Given the description of an element on the screen output the (x, y) to click on. 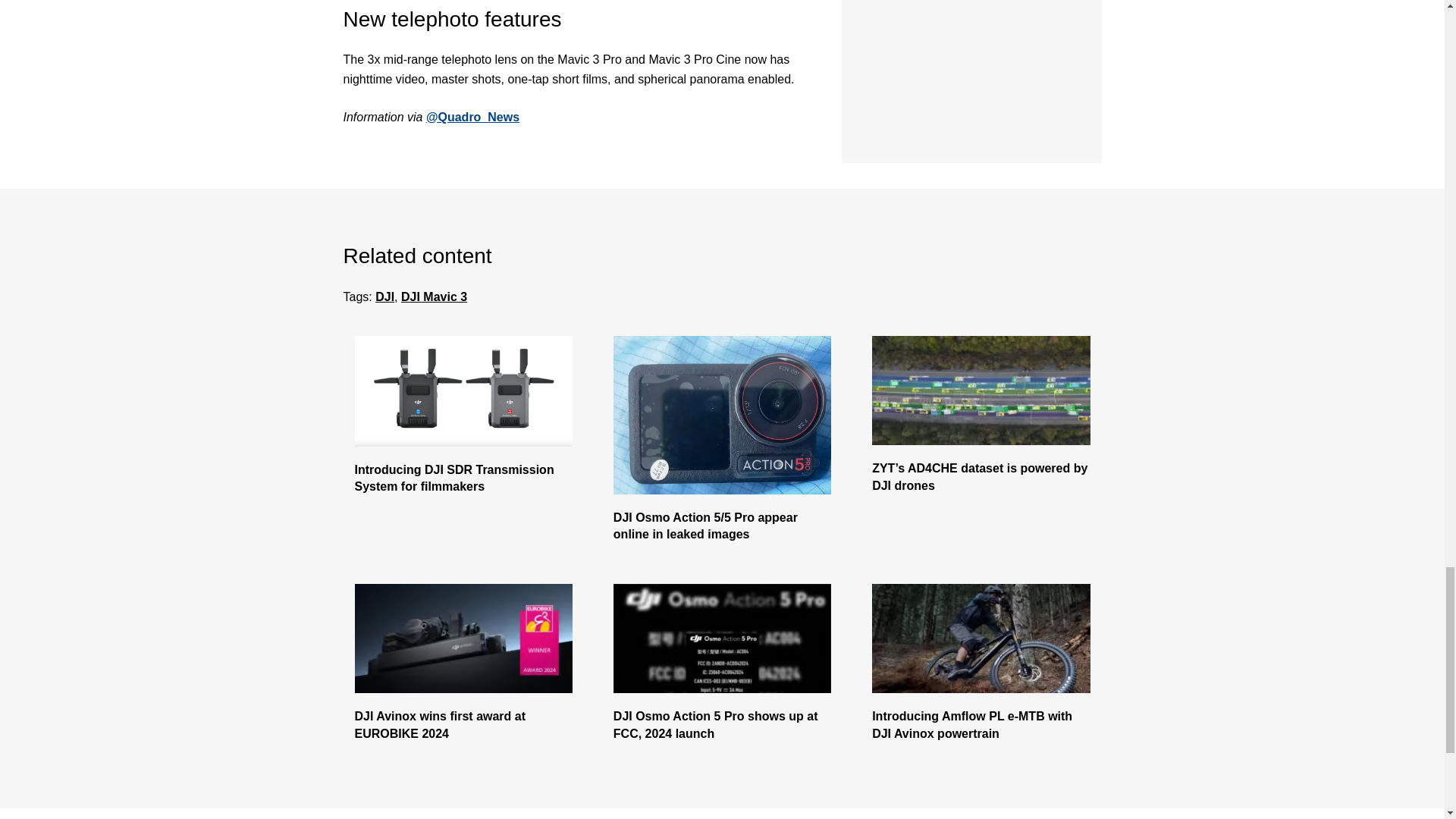
Introducing DJI SDR Transmission System for filmmakers 2 (463, 390)
DJI Mavic 3 (434, 296)
Introducing DJI SDR Transmission System for filmmakers (463, 478)
ZYT's AD4CHE dataset is powered by DJI drones 4 (980, 390)
DJI (384, 296)
